Given the description of an element on the screen output the (x, y) to click on. 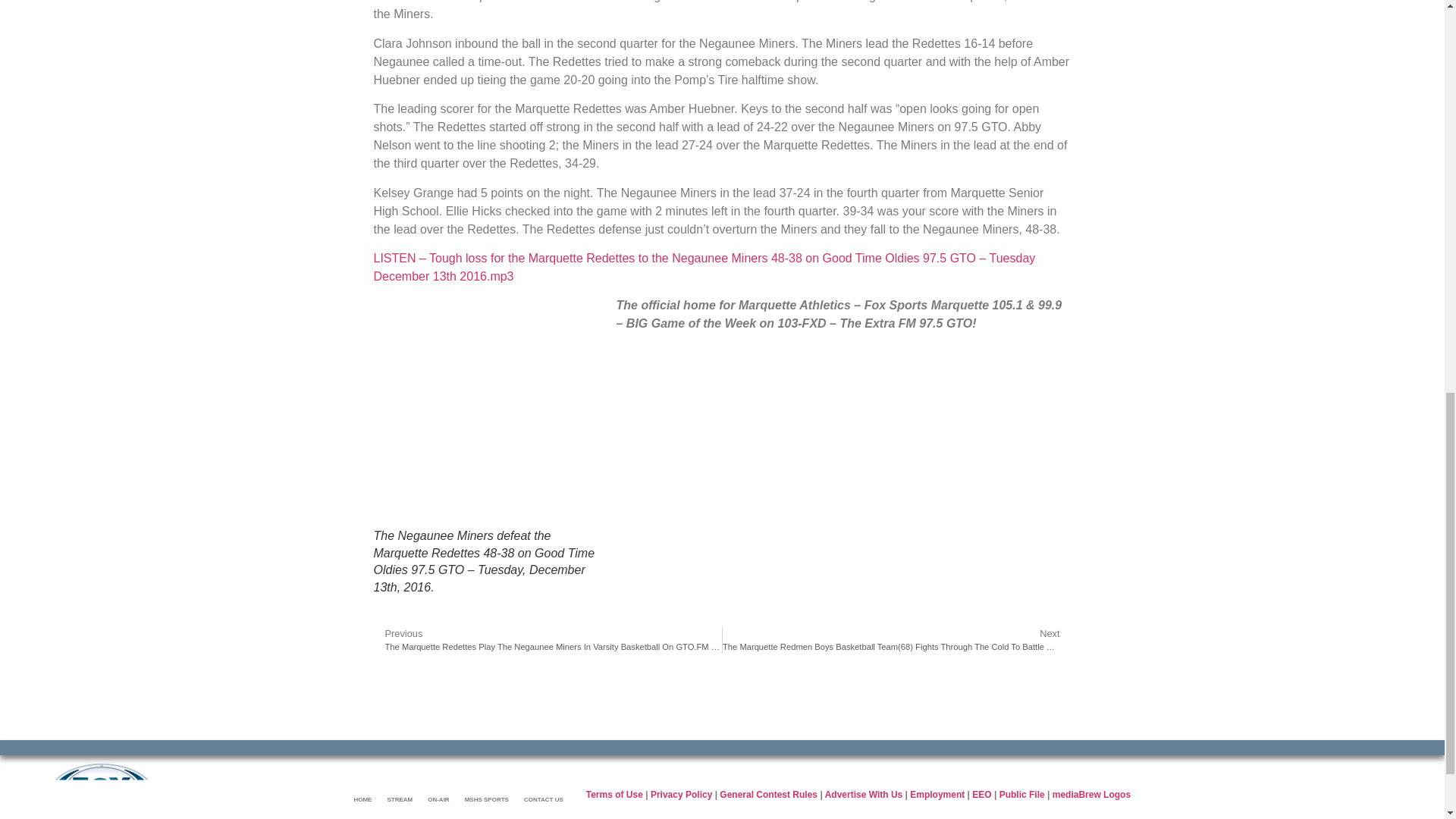
mediaBrew Employment (936, 794)
STREAM (399, 799)
HOME (362, 799)
mediaBrew General Contest Rules (767, 794)
mediaBrew Communications Public File (1021, 794)
ON-AIR (438, 799)
mediaBrew EEO (981, 794)
Advertise with mediaBrew Communications (863, 794)
mediaBrew Terms of Use (614, 794)
